Given the description of an element on the screen output the (x, y) to click on. 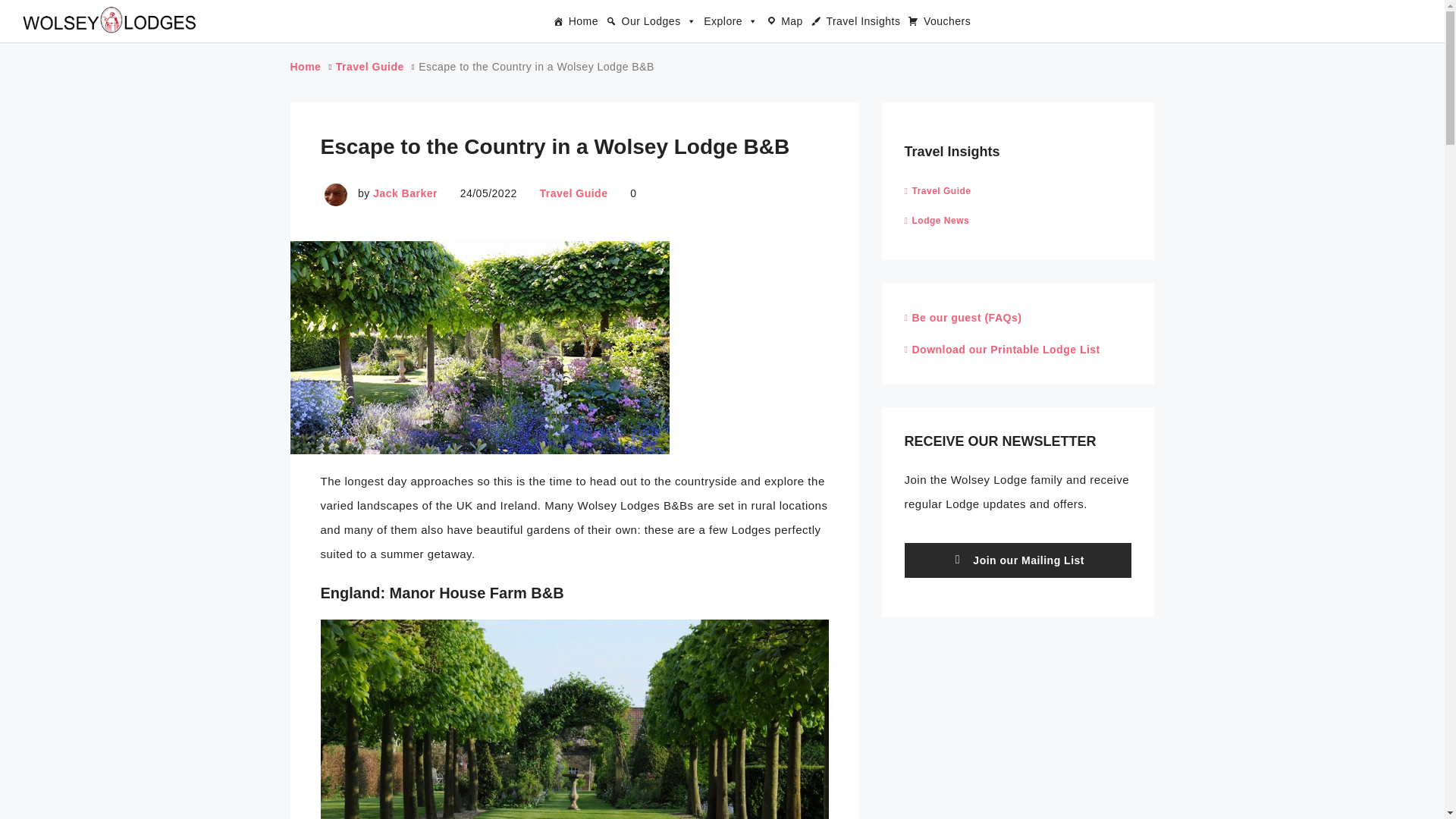
Home (571, 20)
Our Lodges (646, 20)
Explore (726, 20)
